Given the description of an element on the screen output the (x, y) to click on. 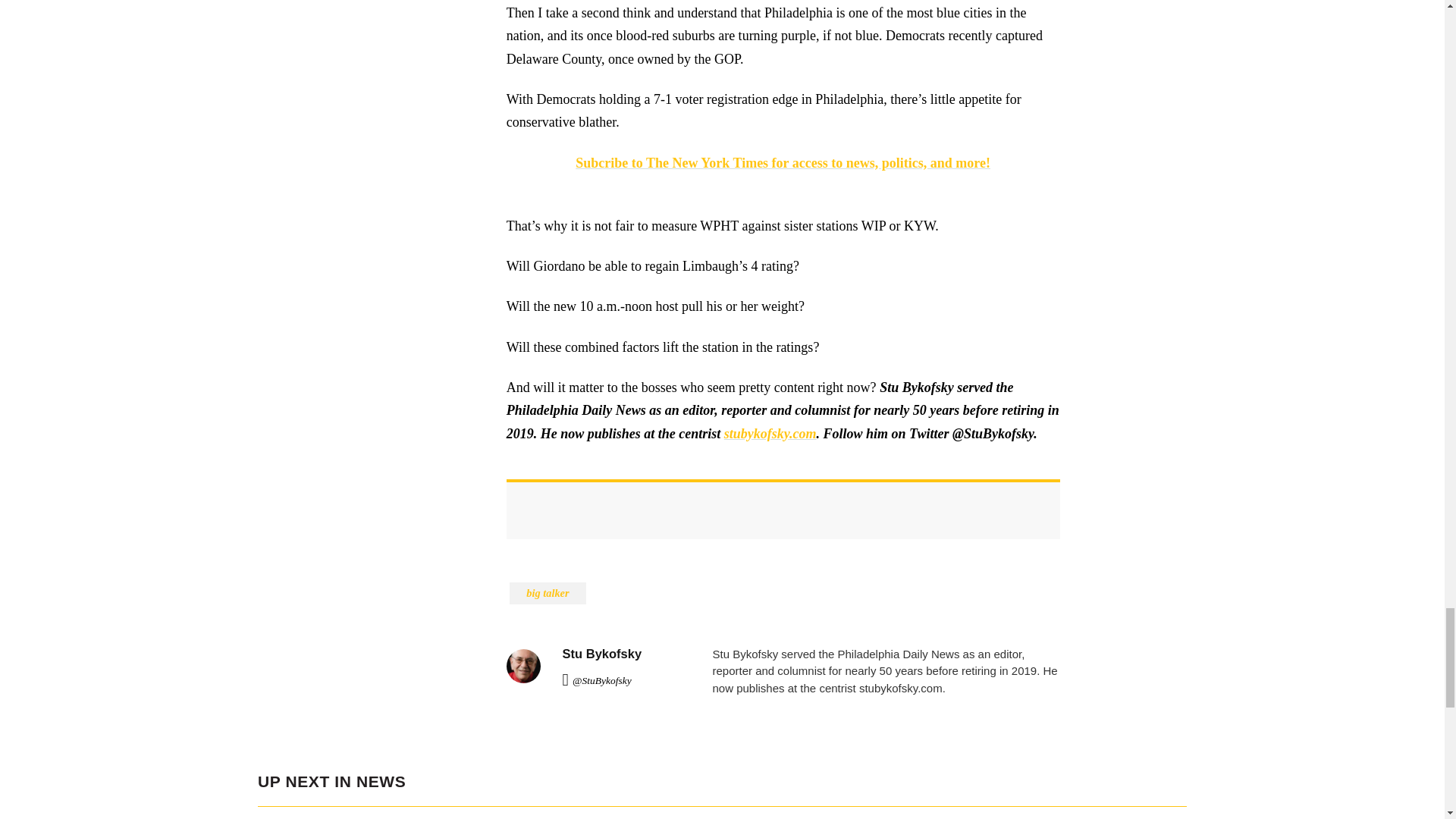
 big talker  (547, 593)
